Given the description of an element on the screen output the (x, y) to click on. 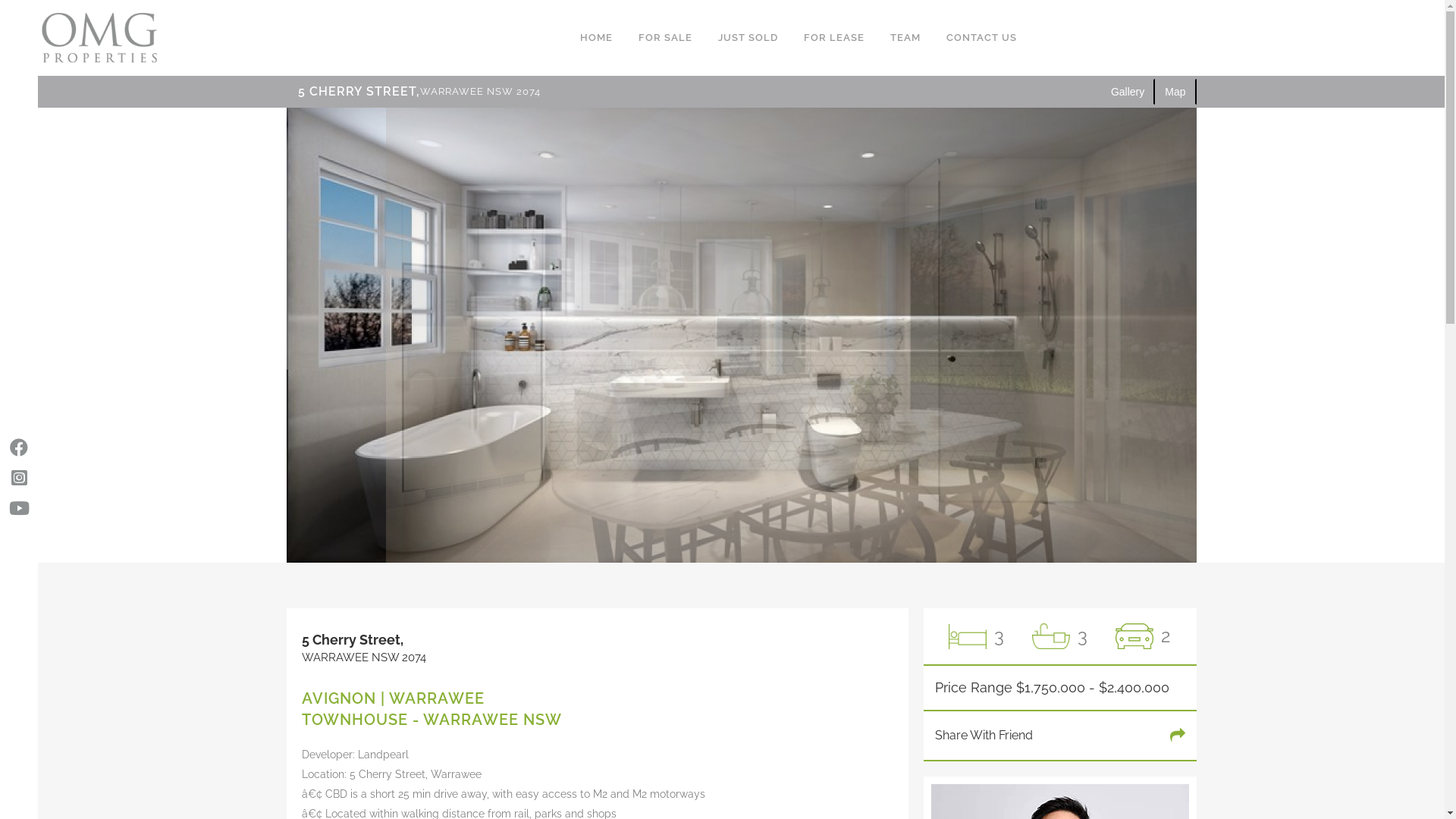
JUST SOLD Element type: text (747, 37)
TEAM Element type: text (904, 37)
CONTACT US Element type: text (980, 37)
HOME Element type: text (596, 37)
FOR LEASE Element type: text (833, 37)
Price Range $1,750,000 - $2,400,000 Element type: text (1051, 687)
Map Element type: text (1174, 91)
FOR SALE Element type: text (664, 37)
Share With Friend Element type: text (983, 735)
Gallery Element type: text (1127, 91)
